Given the description of an element on the screen output the (x, y) to click on. 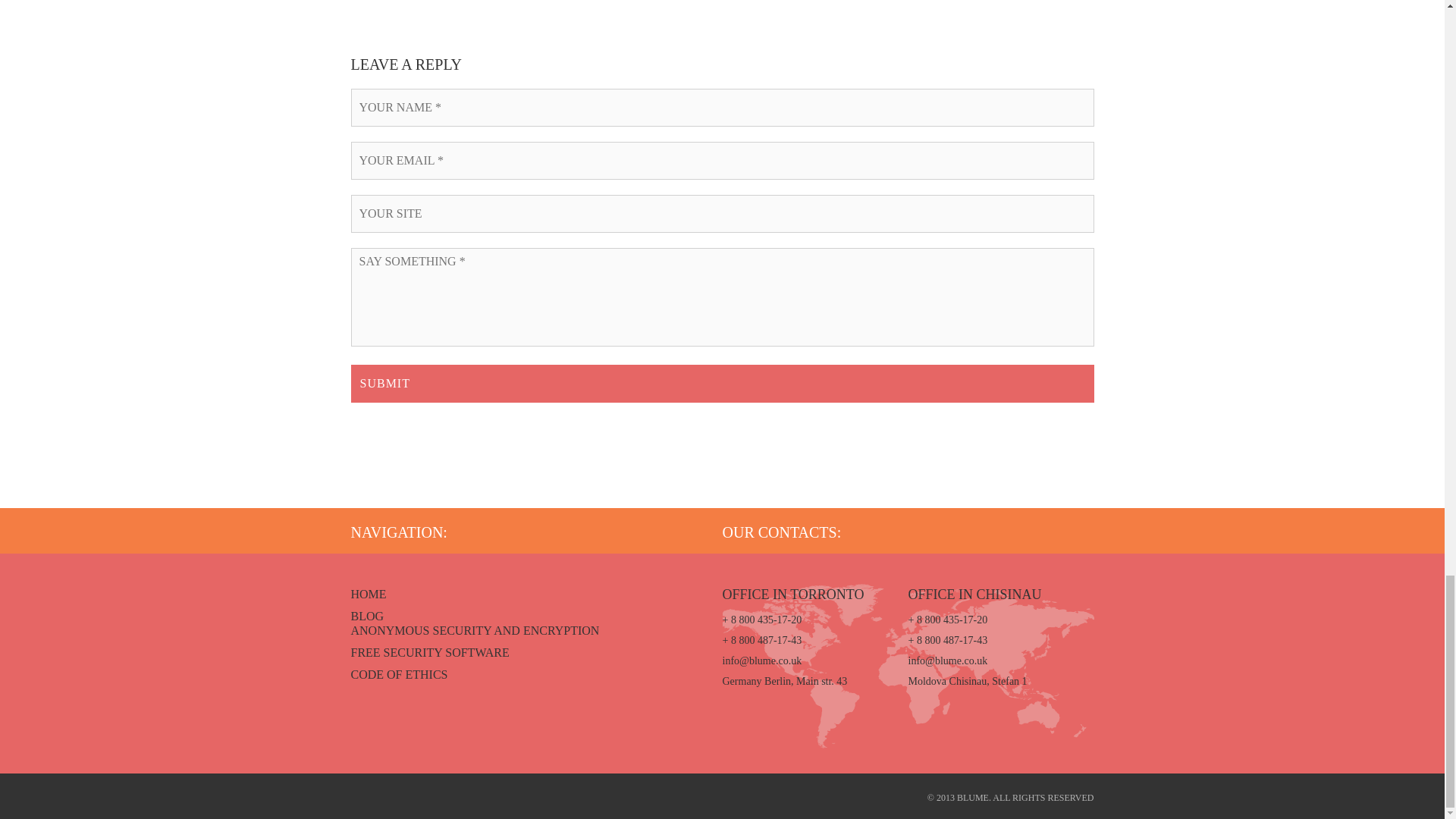
ANONYMOUS SECURITY AND ENCRYPTION (474, 630)
ThePcTool Software (429, 652)
HOME (367, 594)
FREE SECURITY SOFTWARE (429, 652)
BLOG (367, 615)
ThePcTool (367, 594)
SUBMIT (721, 383)
CODE OF ETHICS (398, 674)
ThePcTool Blog (367, 615)
SUBMIT (721, 383)
